Given the description of an element on the screen output the (x, y) to click on. 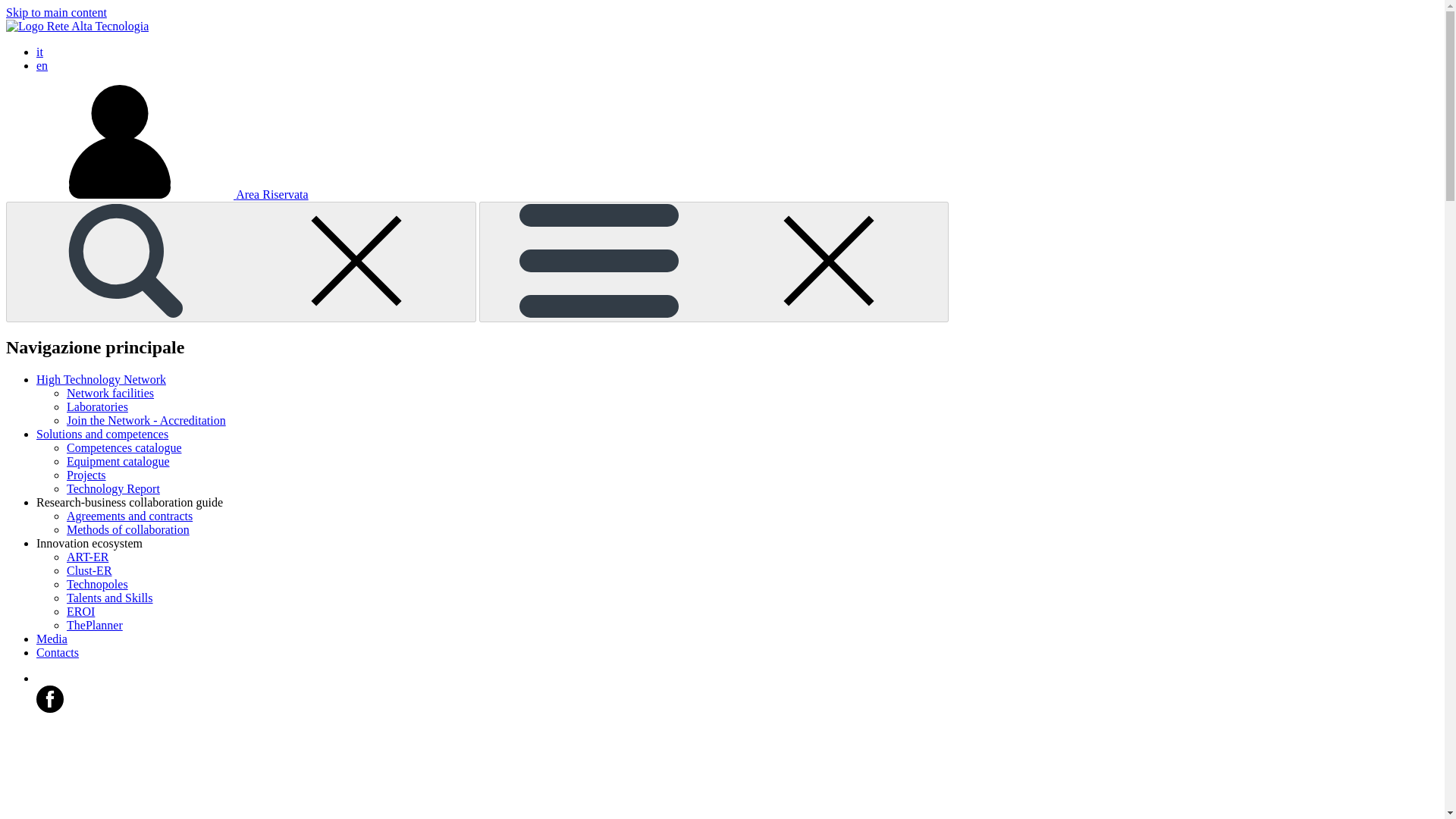
Agreements and contracts (129, 515)
Media (51, 638)
ThePlanner (94, 625)
Talents and Skills (109, 597)
it (39, 51)
Technology Report (113, 488)
Clust-ER (89, 570)
Technopoles (97, 584)
Skip to main content (55, 11)
High Technology Network (100, 379)
Area Riservata (156, 194)
Equipment catalogue (118, 461)
en (42, 65)
Network facilities (110, 392)
EROI (80, 611)
